Given the description of an element on the screen output the (x, y) to click on. 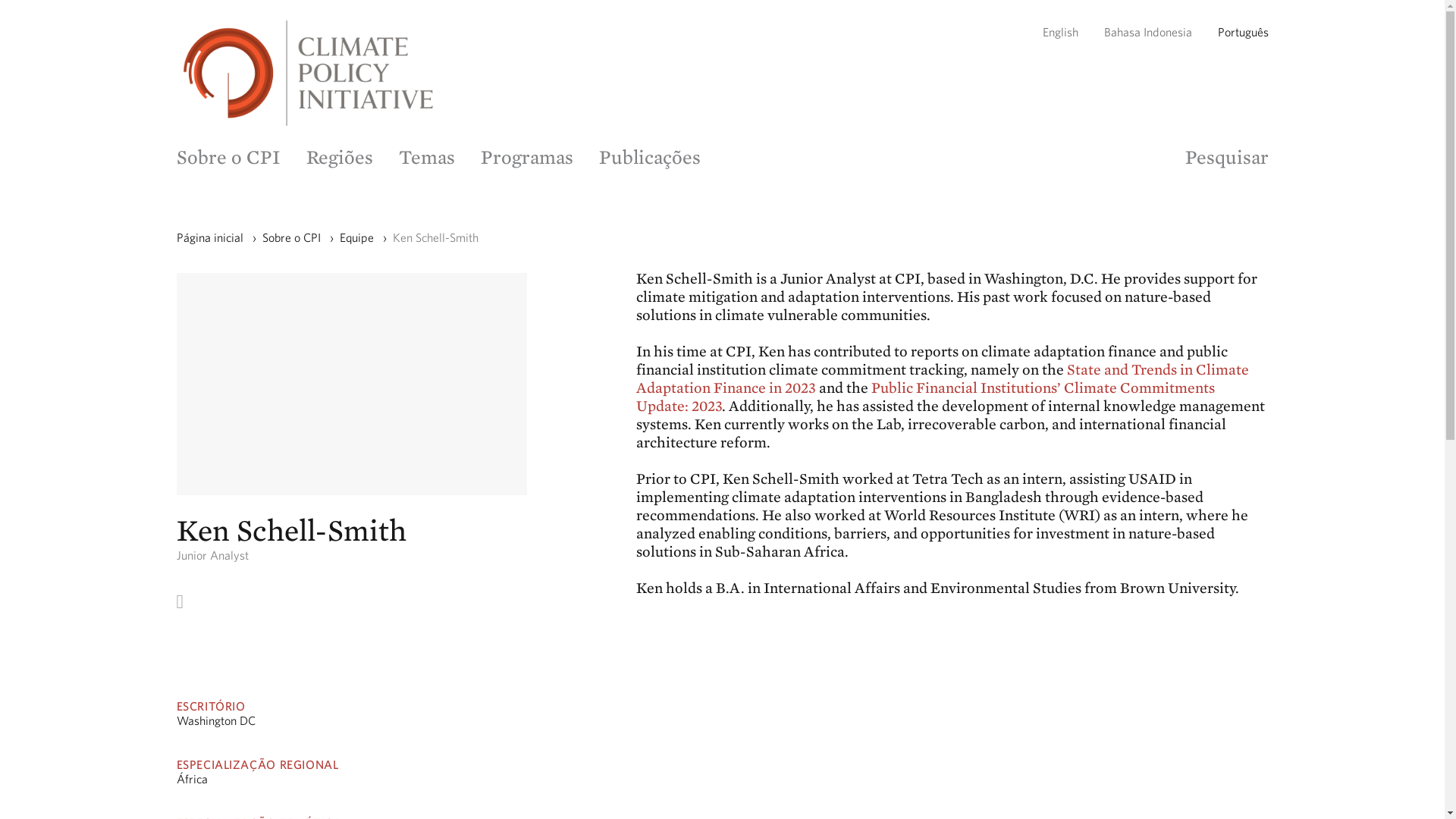
English (1059, 31)
Bahasa Indonesia (1147, 31)
